Given the description of an element on the screen output the (x, y) to click on. 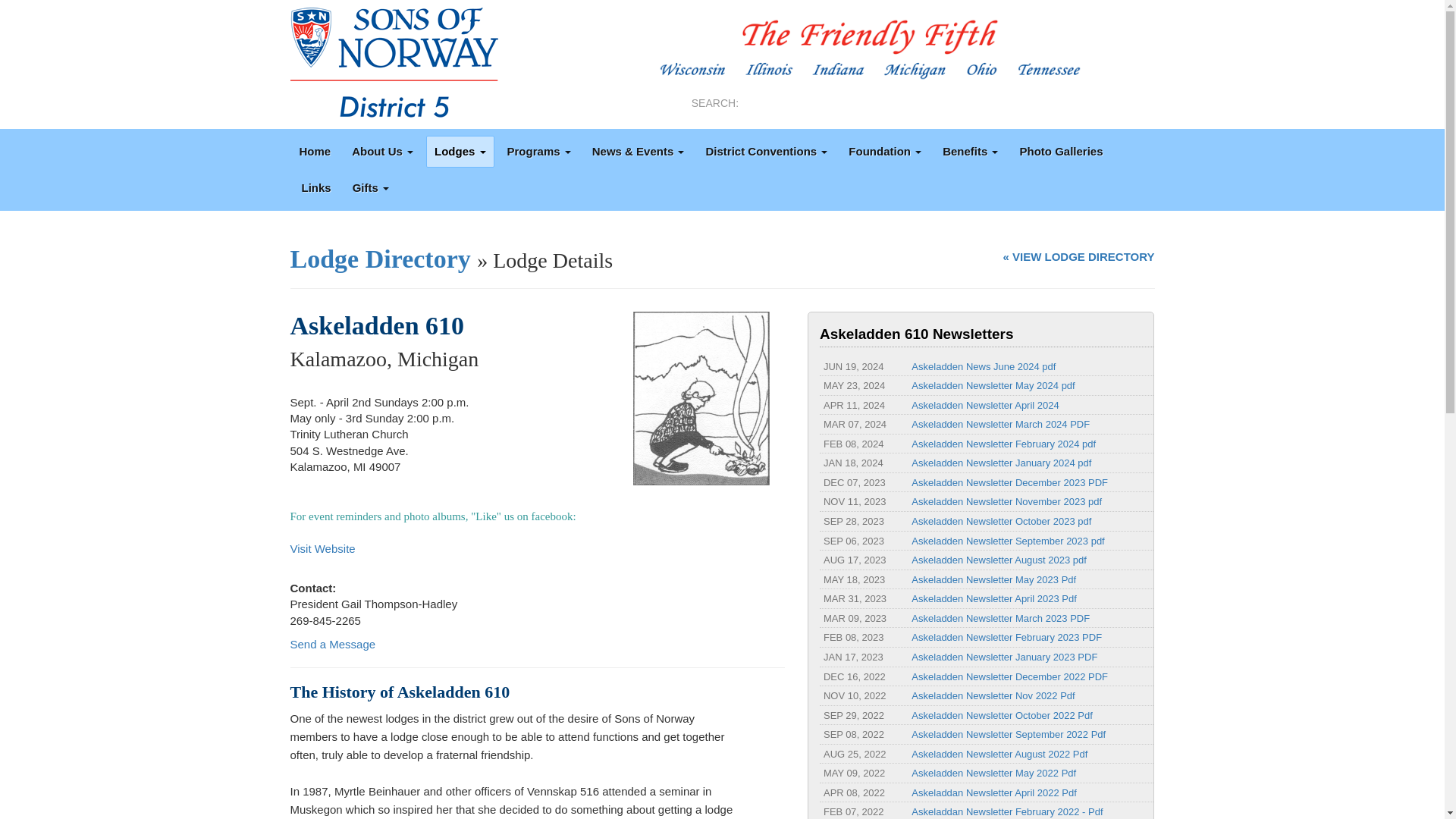
Home (315, 151)
Lodges (460, 151)
Programs (539, 151)
Programs (539, 151)
About Us (382, 151)
Links (315, 187)
About Us (382, 151)
Home (315, 151)
Gifts (370, 187)
Links (1060, 151)
Lodges (460, 151)
News and Events (638, 151)
Foundation (885, 151)
Financial (970, 151)
District Conventions (766, 151)
